Given the description of an element on the screen output the (x, y) to click on. 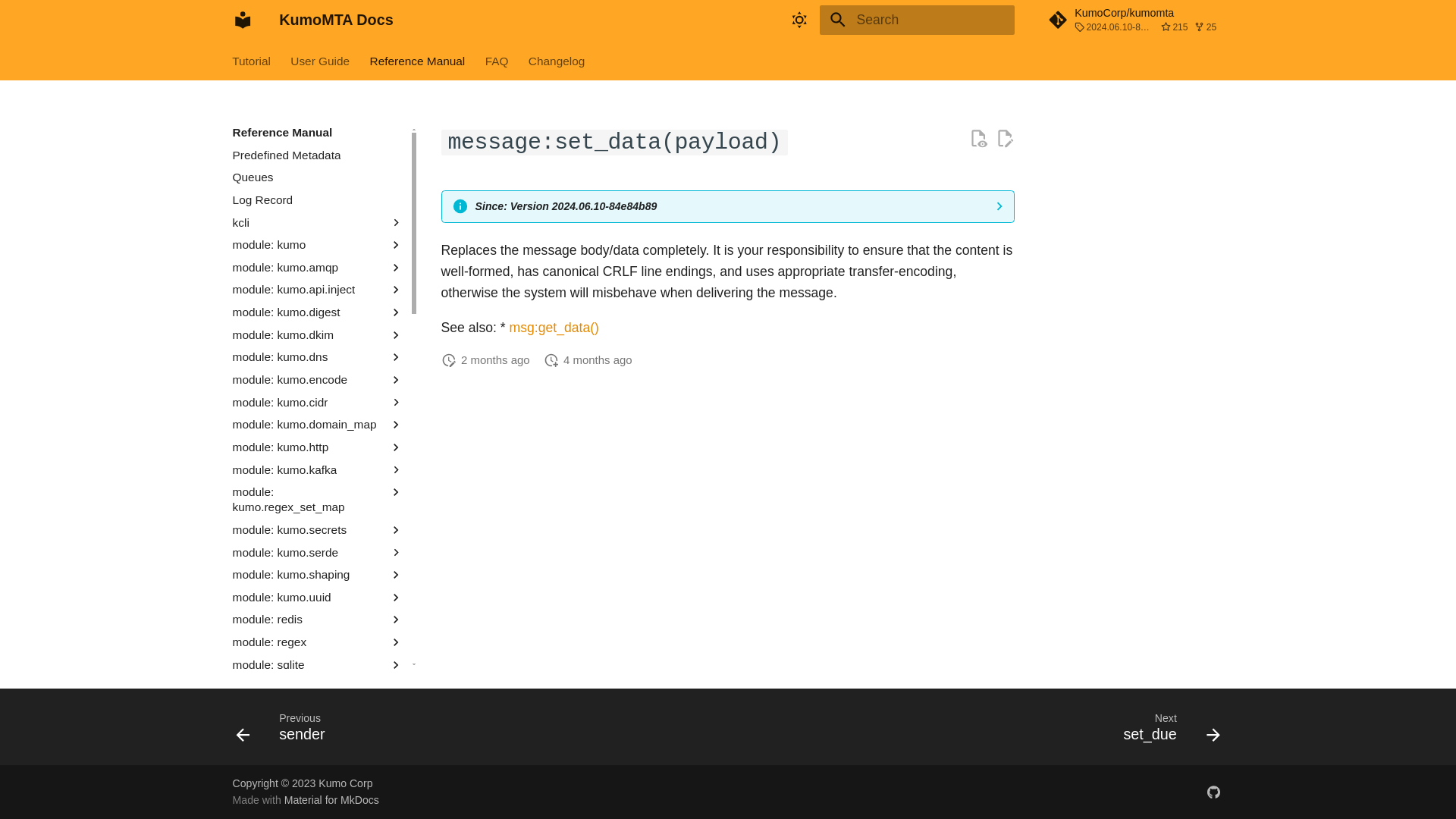
Changelog (556, 60)
FAQ (496, 60)
Created (551, 359)
Go to repository (1135, 20)
github.com (1213, 791)
User Guide (320, 60)
Tutorial (251, 60)
KumoMTA Docs (242, 19)
Last update (449, 359)
Switch to dark mode (799, 19)
